Given the description of an element on the screen output the (x, y) to click on. 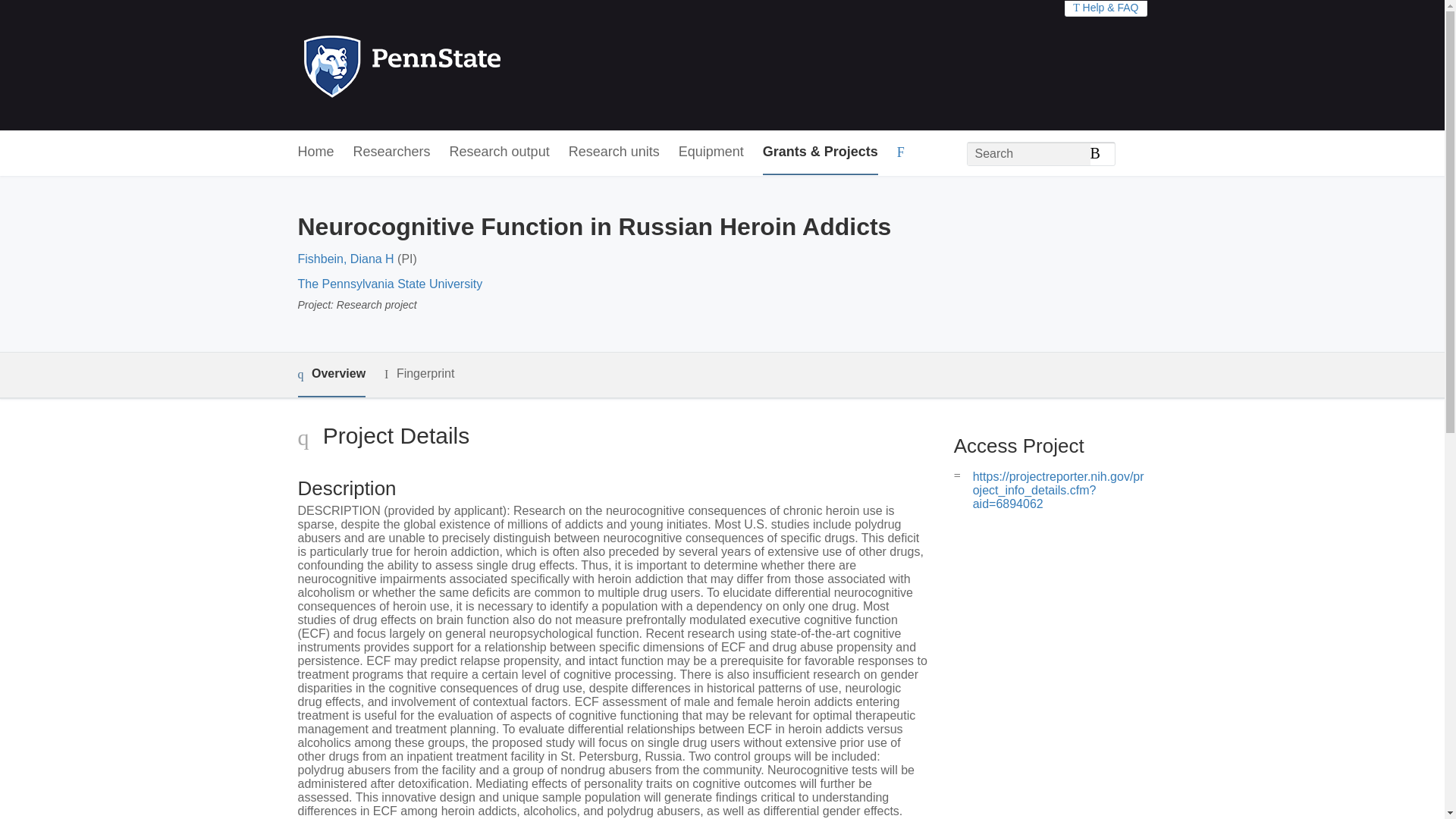
Fingerprint (419, 373)
Research units (614, 152)
Overview (331, 374)
Equipment (711, 152)
The Pennsylvania State University (389, 283)
Penn State Home (467, 65)
Research output (499, 152)
Fishbein, Diana H (345, 258)
Researchers (391, 152)
